Given the description of an element on the screen output the (x, y) to click on. 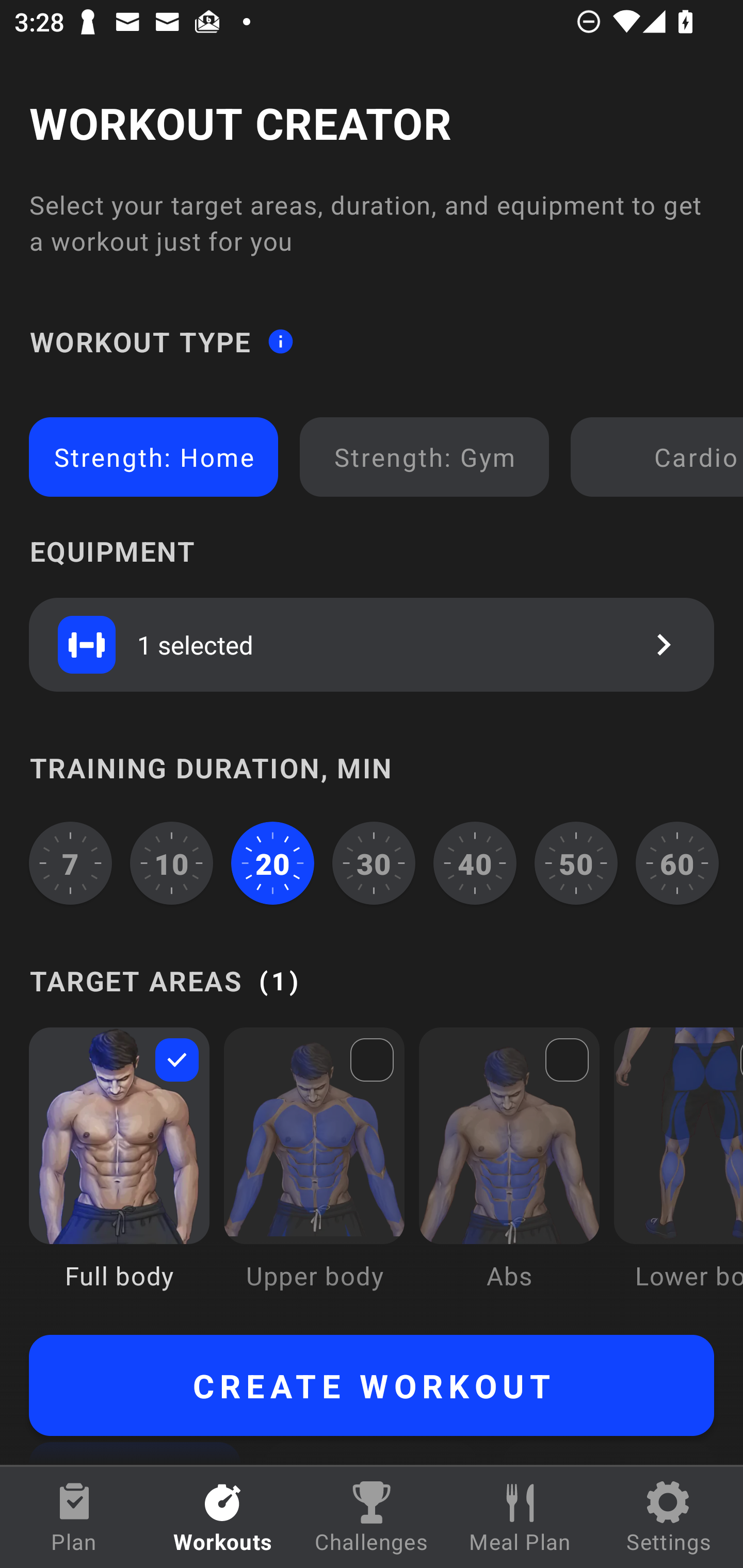
Workout type information button (280, 340)
Strength: Gym (423, 457)
Cardio (660, 457)
1 selected (371, 644)
7 (70, 862)
10 (171, 862)
20 (272, 862)
30 (373, 862)
40 (474, 862)
50 (575, 862)
60 (676, 862)
Upper body (313, 1172)
Abs (509, 1172)
Lower body (678, 1172)
CREATE WORKOUT (371, 1385)
 Plan  (74, 1517)
 Challenges  (371, 1517)
 Meal Plan  (519, 1517)
 Settings  (668, 1517)
